Given the description of an element on the screen output the (x, y) to click on. 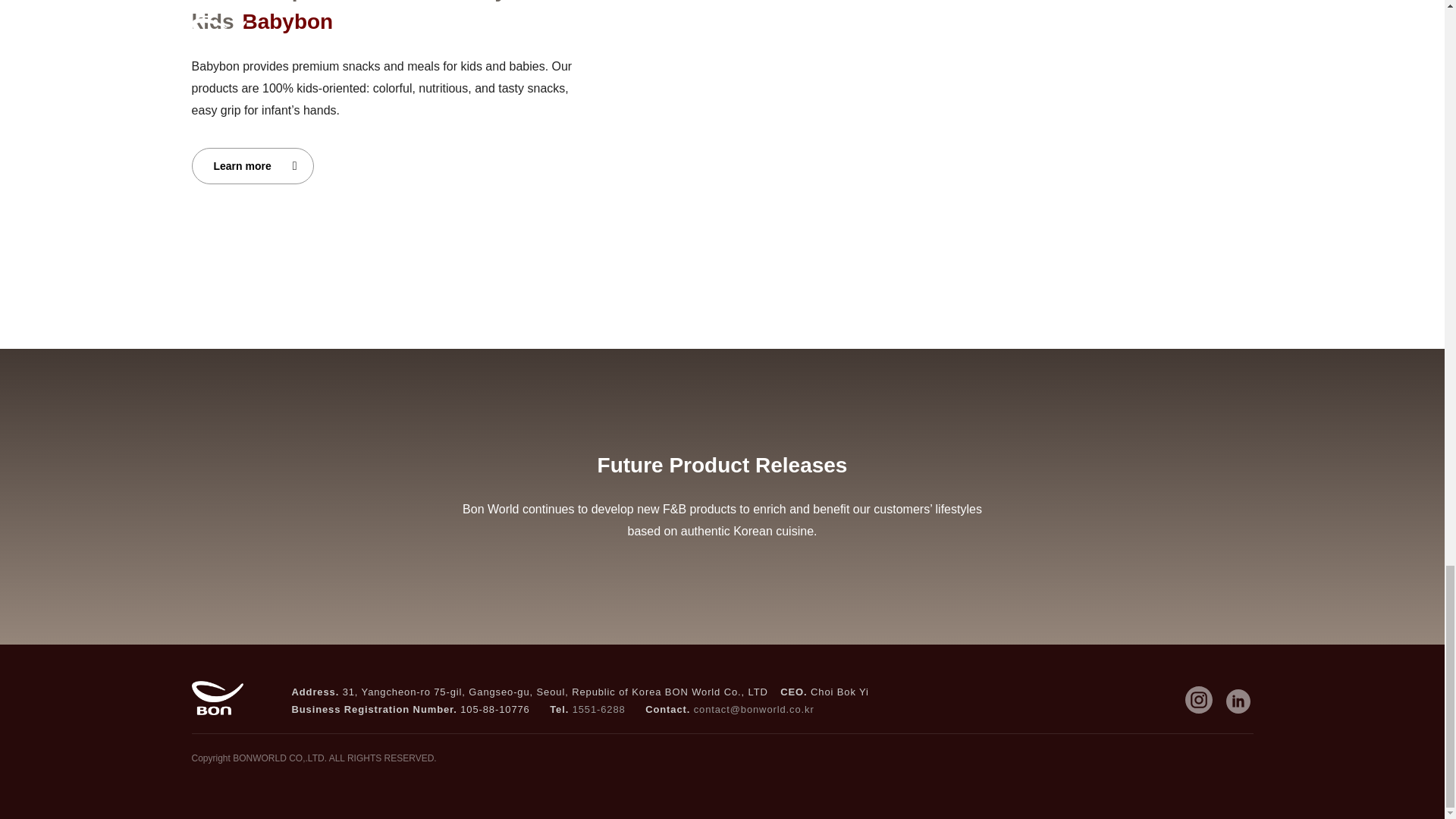
LinkedIn (1237, 701)
LinkedIn (1237, 701)
instagram (1197, 699)
1551-6288 (599, 708)
instagram (1197, 699)
Learn more (251, 166)
